Given the description of an element on the screen output the (x, y) to click on. 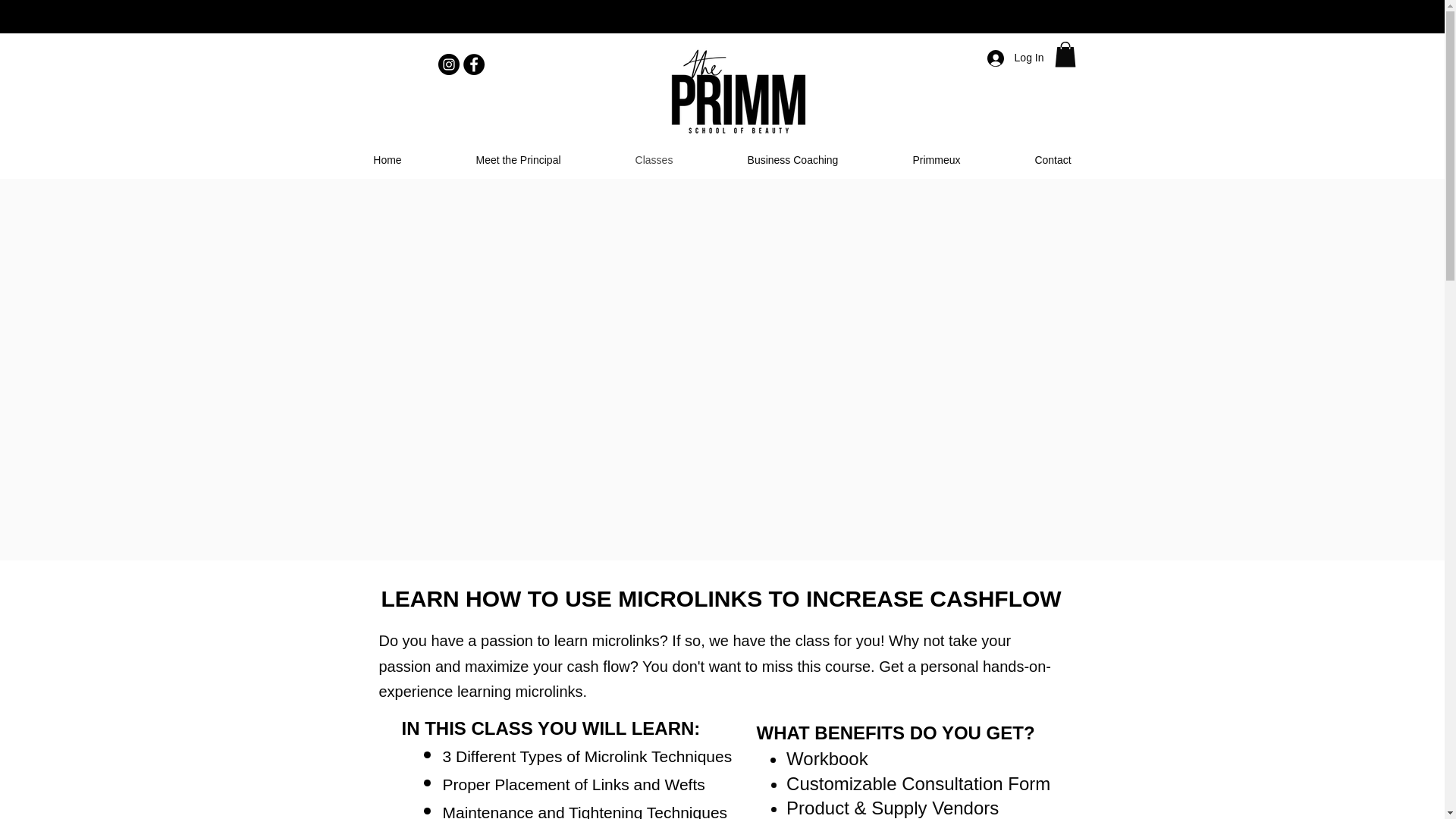
Meet the Principal (517, 159)
Log In (1015, 58)
Primmeux (936, 159)
Business Coaching (792, 159)
Classes (653, 159)
Contact (1052, 159)
Home (387, 159)
